Given the description of an element on the screen output the (x, y) to click on. 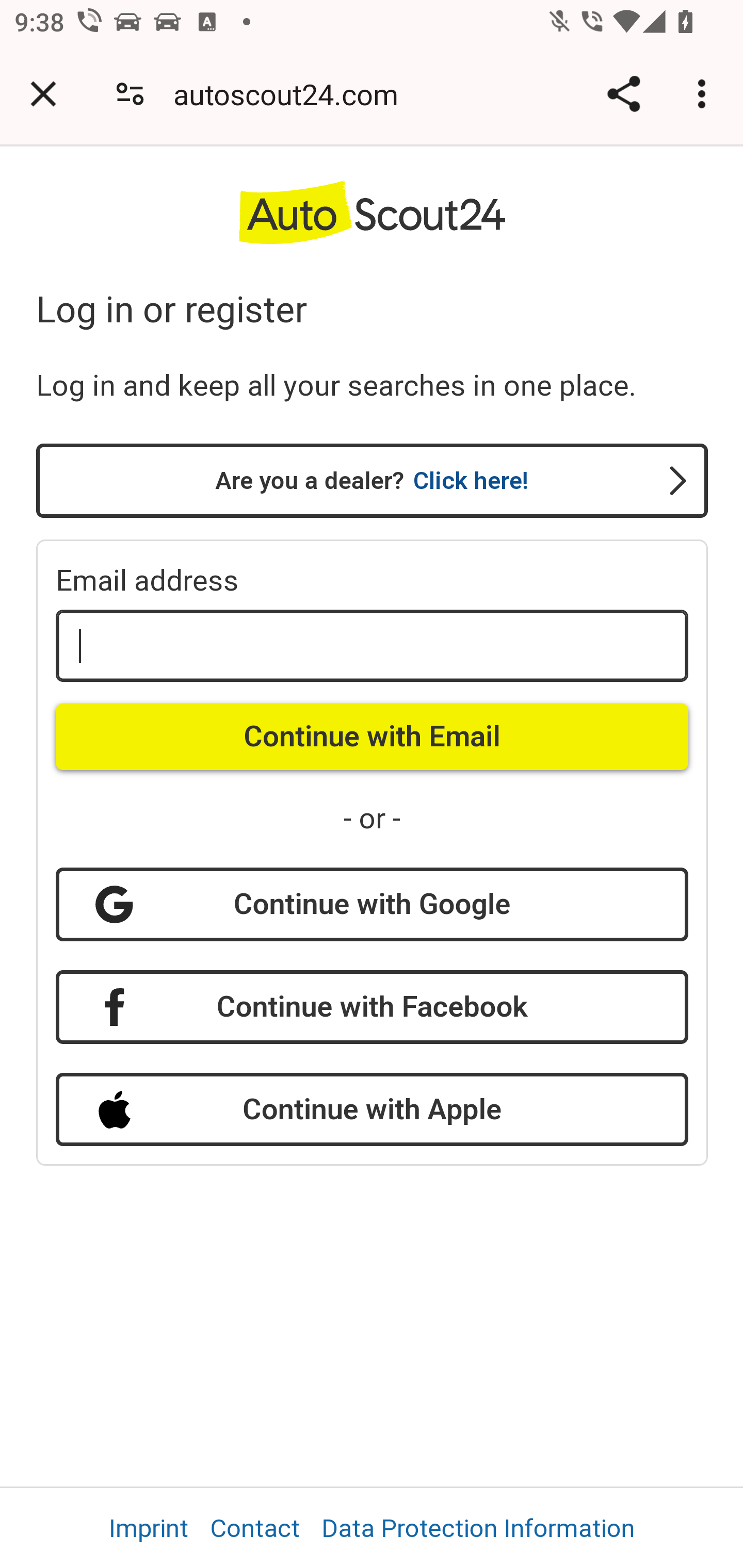
Close tab (43, 93)
Share (623, 93)
Customize and control Google Chrome (705, 93)
Connection is secure (129, 93)
autoscout24.com (293, 93)
Are you a dealer? Click here! (372, 481)
Continue with Email (371, 735)
Continue with Google (371, 904)
Continue with Facebook (371, 1006)
Continue with Apple (371, 1109)
Imprint (148, 1527)
Contact (255, 1527)
Data Protection Information (478, 1527)
